Given the description of an element on the screen output the (x, y) to click on. 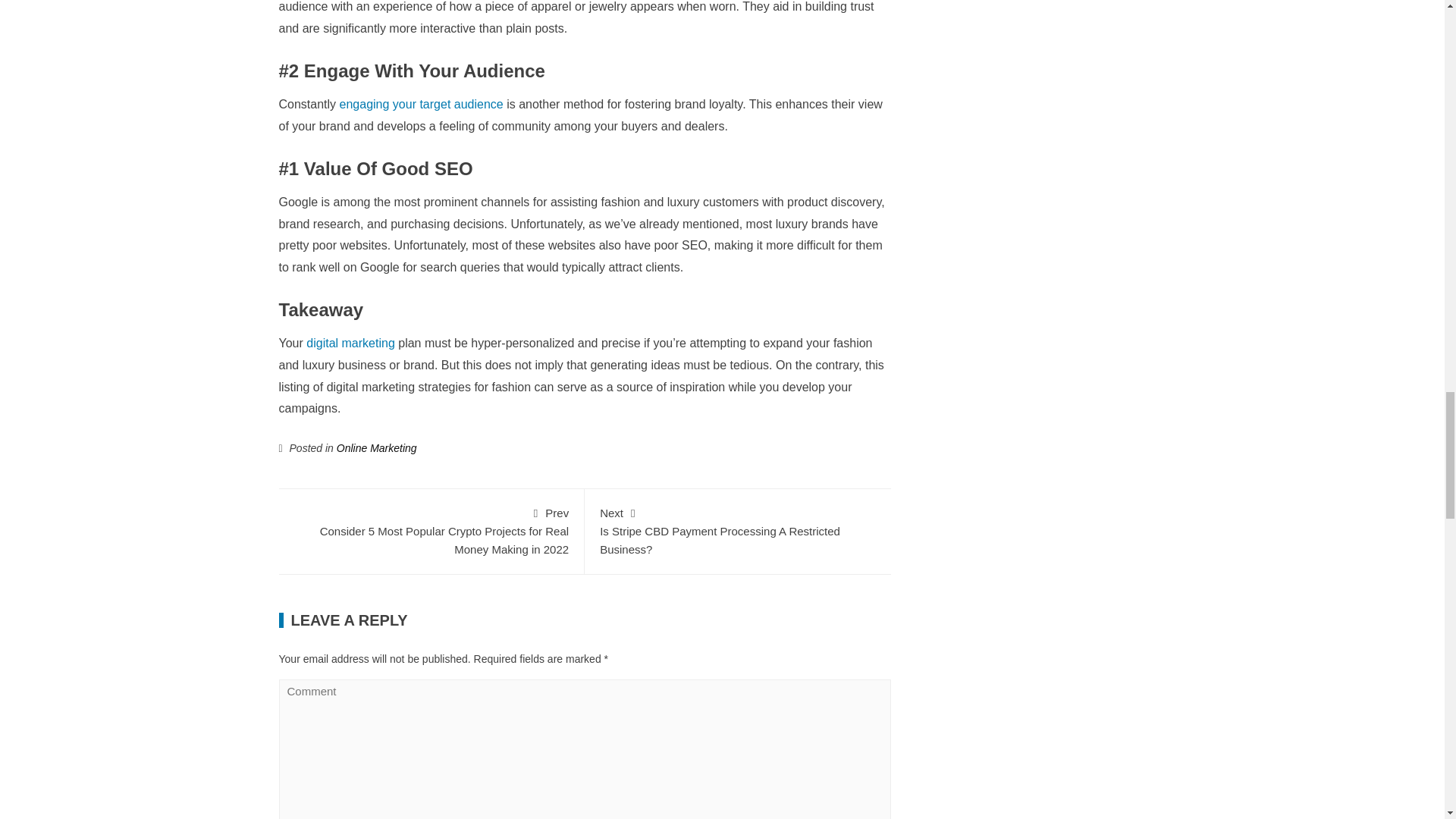
Online Marketing (737, 530)
digital marketing (376, 448)
engaging your target audience (349, 342)
